Given the description of an element on the screen output the (x, y) to click on. 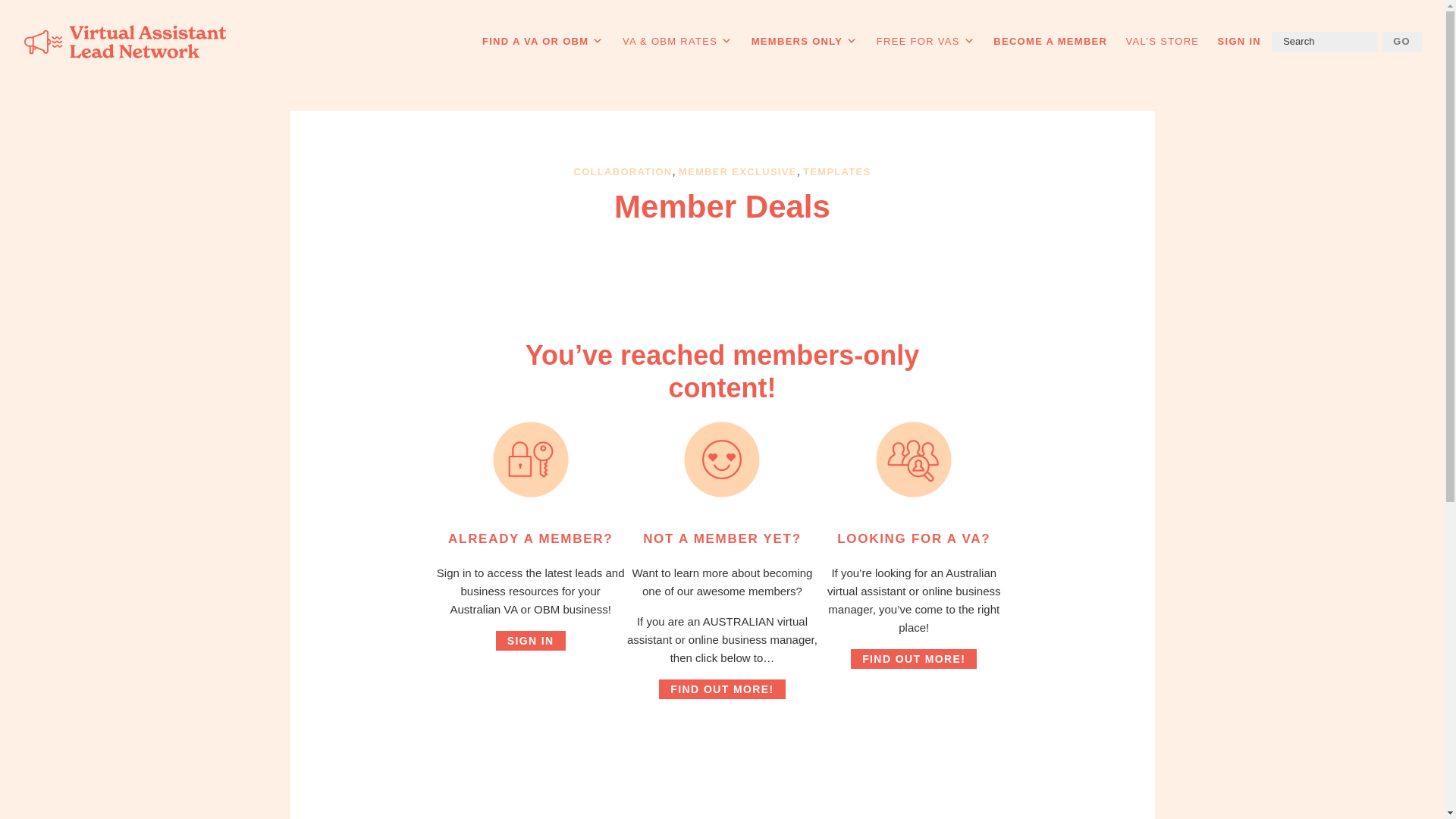
COLLABORATION (622, 171)
FIND OUT MORE! (721, 689)
MEMBER EXCLUSIVE (737, 171)
SIGN IN (1239, 41)
Go (1401, 41)
Go (1401, 41)
SIGN IN (531, 640)
MEMBERS ONLY (805, 40)
FIND OUT MORE! (913, 659)
FIND A VA OR OBM (542, 40)
